Given the description of an element on the screen output the (x, y) to click on. 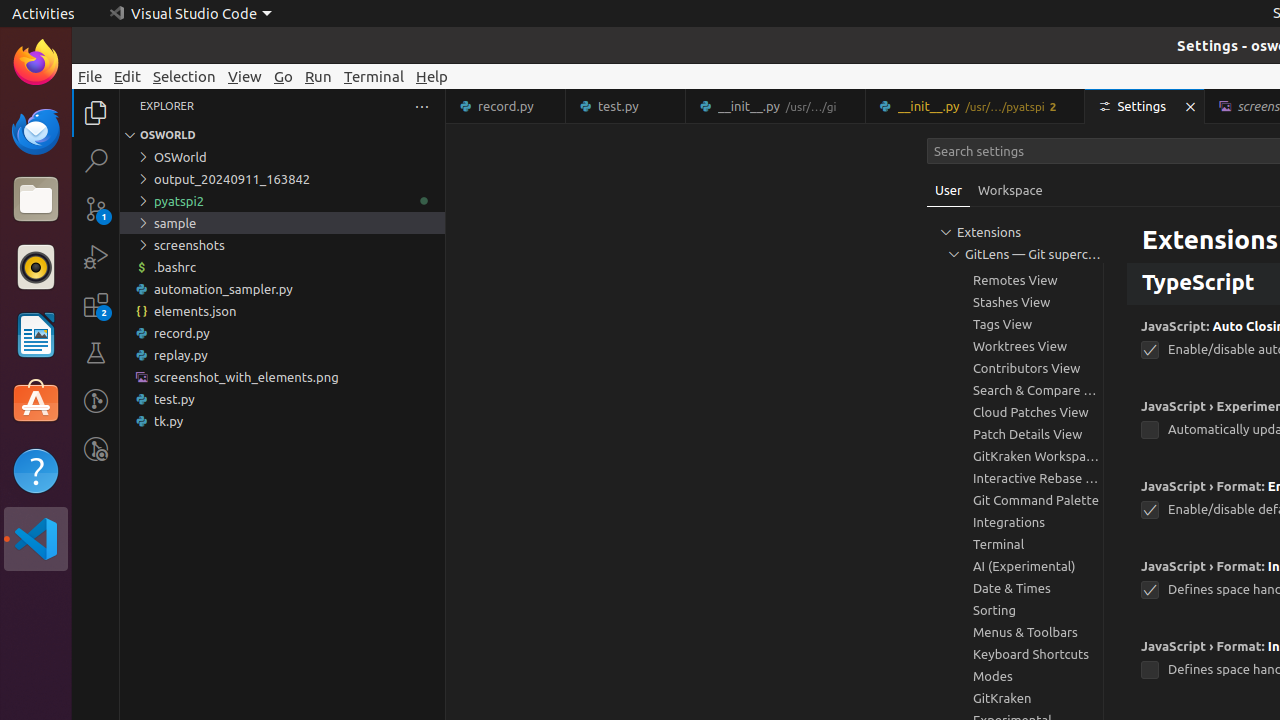
__init__.py Element type: page-tab (975, 106)
Date & Times, group Element type: tree-item (1015, 588)
Testing Element type: page-tab (96, 353)
Stashes View, group Element type: tree-item (1015, 302)
